Given the description of an element on the screen output the (x, y) to click on. 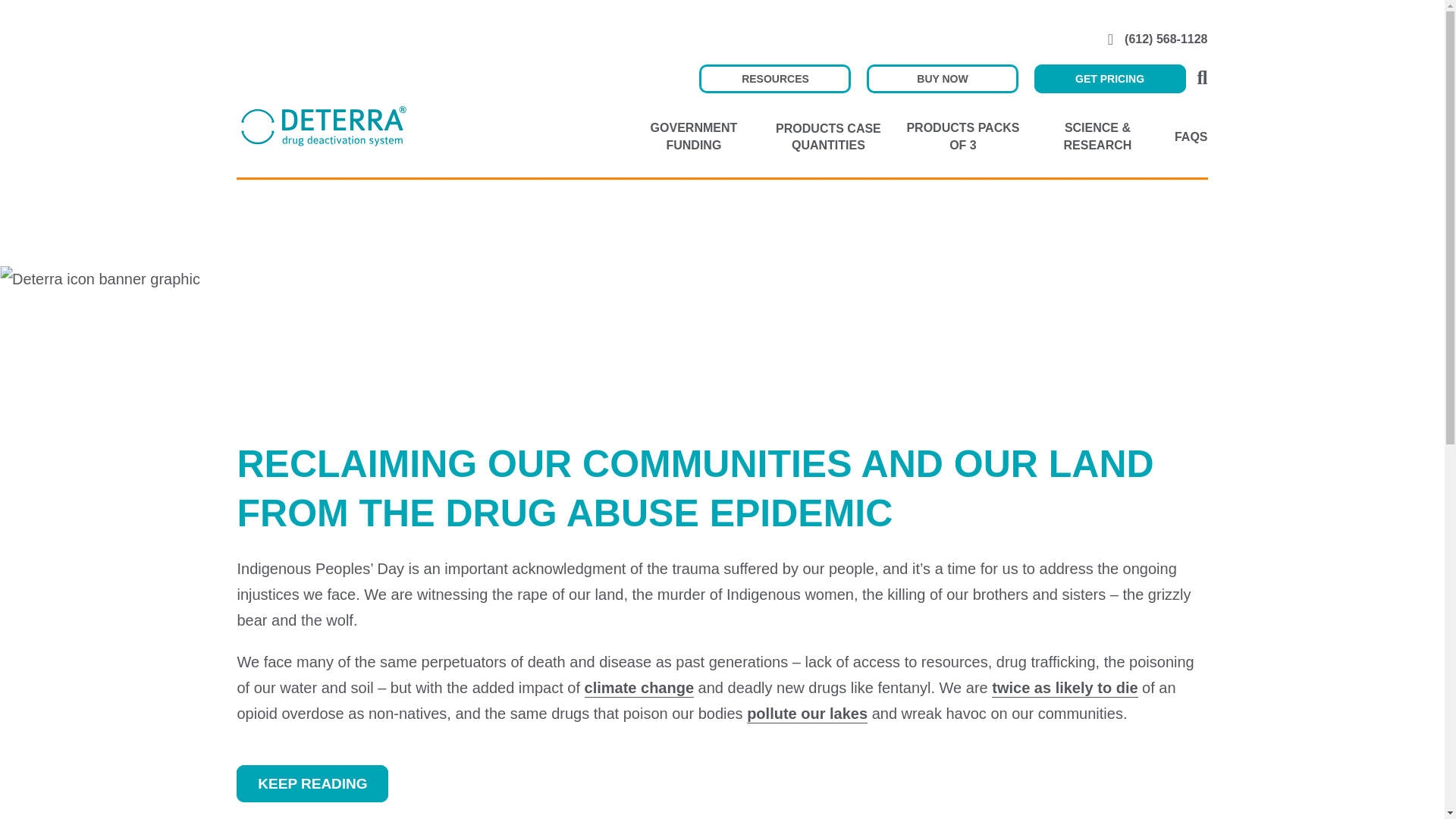
Government Funding (693, 136)
pollute our lakes (806, 714)
FAQs (1191, 137)
KEEP READING (311, 783)
FAQS (1191, 137)
GOVERNMENT FUNDING (693, 136)
Products Packs of 3 (962, 136)
GET PRICING (1109, 78)
PRODUCTS PACKS OF 3 (962, 136)
BUY NOW (941, 78)
climate change (639, 688)
twice as likely to die (1064, 688)
RESOURCES (774, 78)
